Given the description of an element on the screen output the (x, y) to click on. 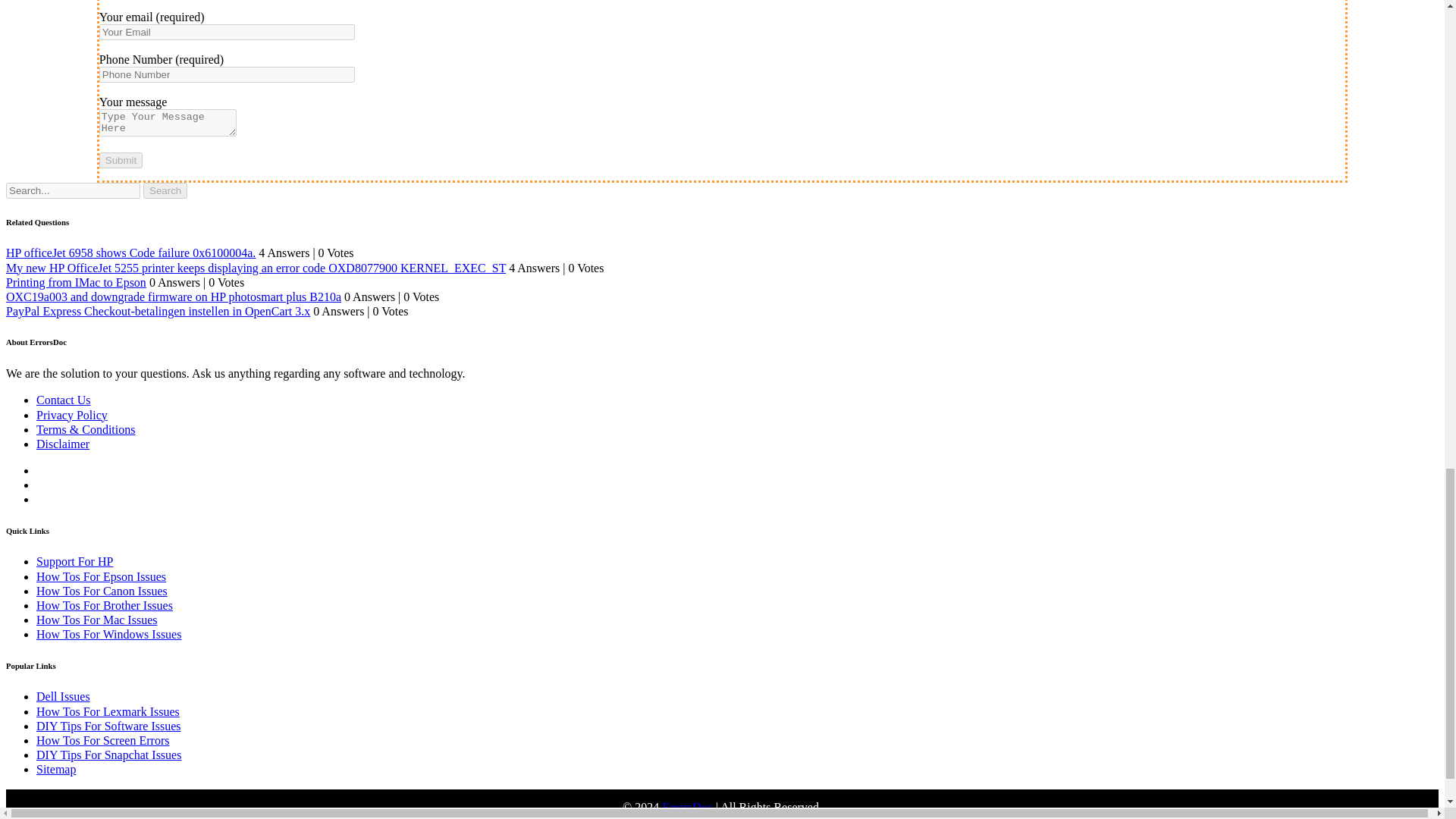
Search (164, 190)
Submit (120, 160)
Search (164, 190)
